Given the description of an element on the screen output the (x, y) to click on. 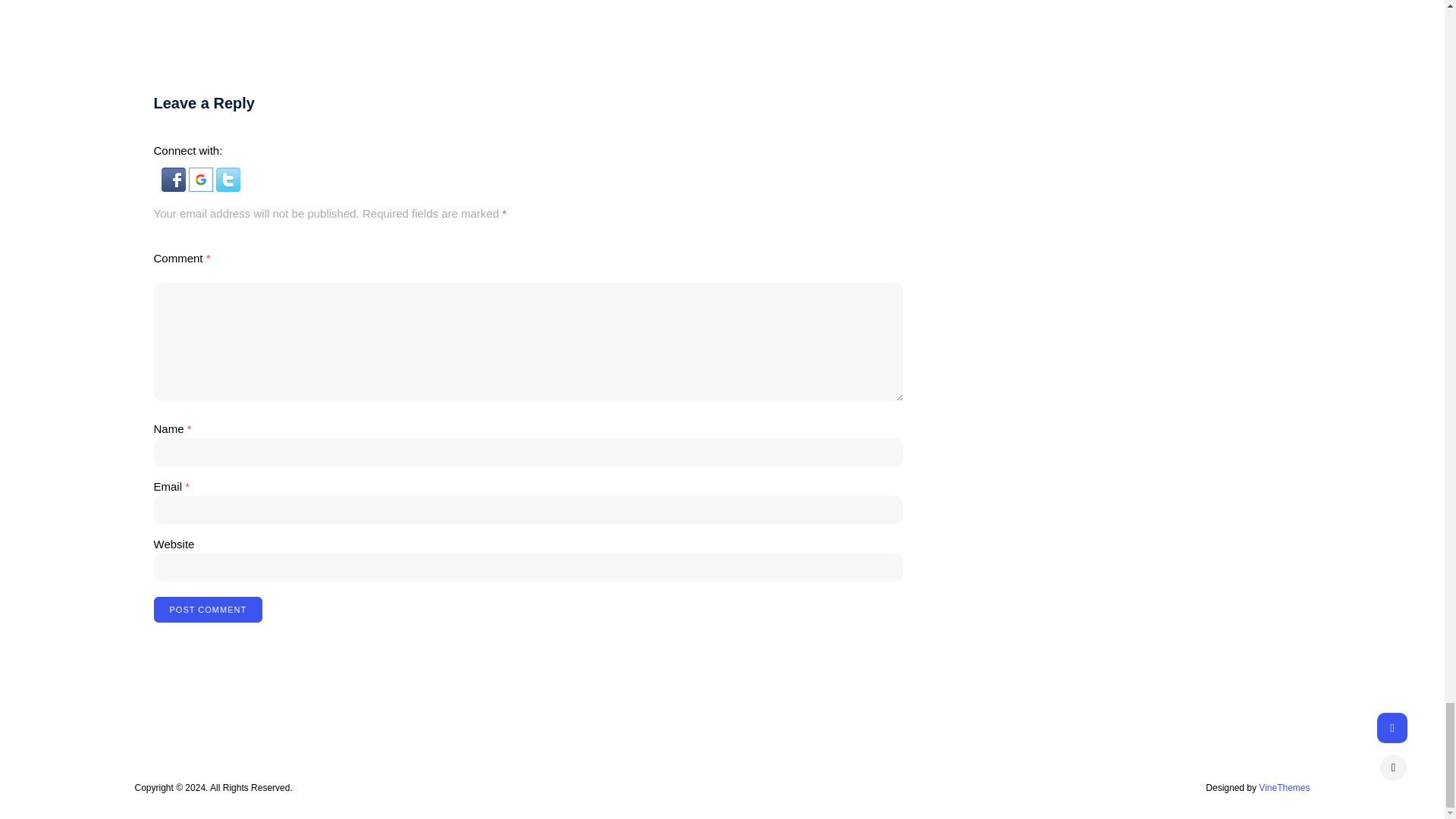
Connect with Facebook (173, 187)
Connect with Twitter (227, 187)
Post Comment (207, 609)
Connect with Google (202, 187)
